Given the description of an element on the screen output the (x, y) to click on. 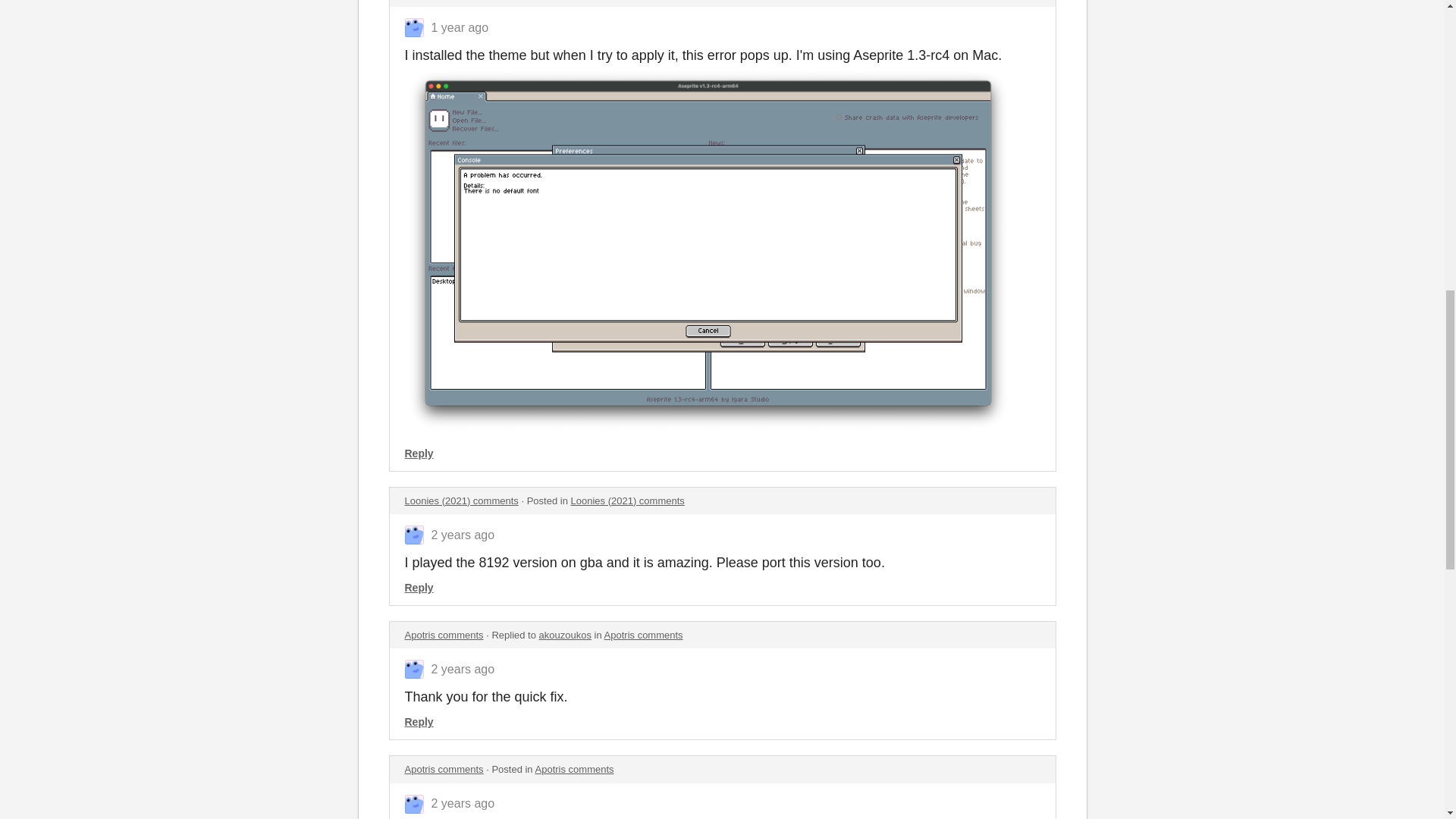
2022-05-10 15:41:59 (462, 534)
2022-05-07 14:21:26 (462, 802)
2023-07-04 21:01:54 (458, 27)
2022-05-07 16:14:48 (462, 668)
